Given the description of an element on the screen output the (x, y) to click on. 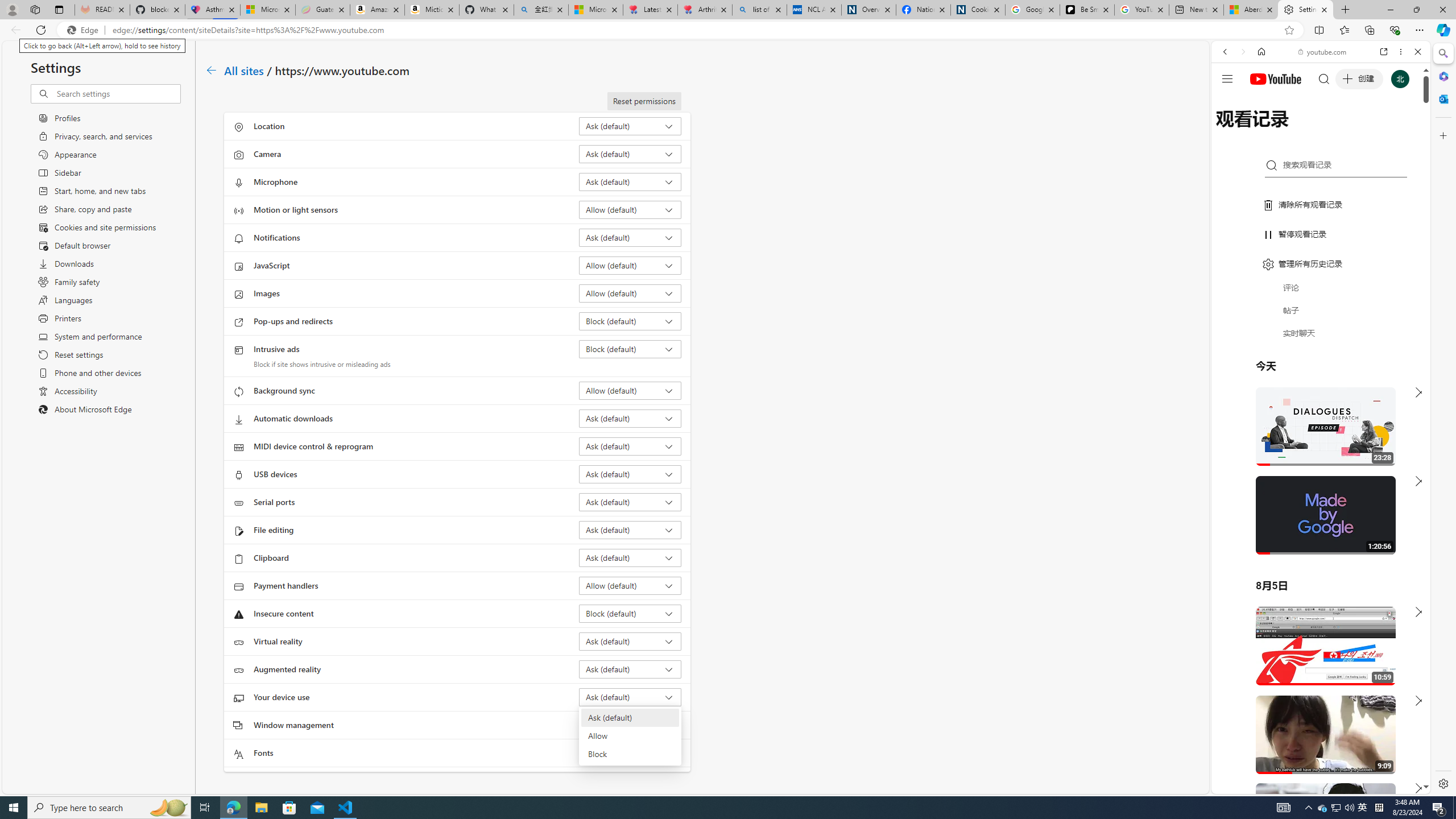
Camera Ask (default) (630, 153)
Virtual reality Ask (default) (630, 641)
VIDEOS (1300, 130)
#you (1315, 659)
Go back to All sites page. (210, 70)
Show More Music (1390, 310)
